Given the description of an element on the screen output the (x, y) to click on. 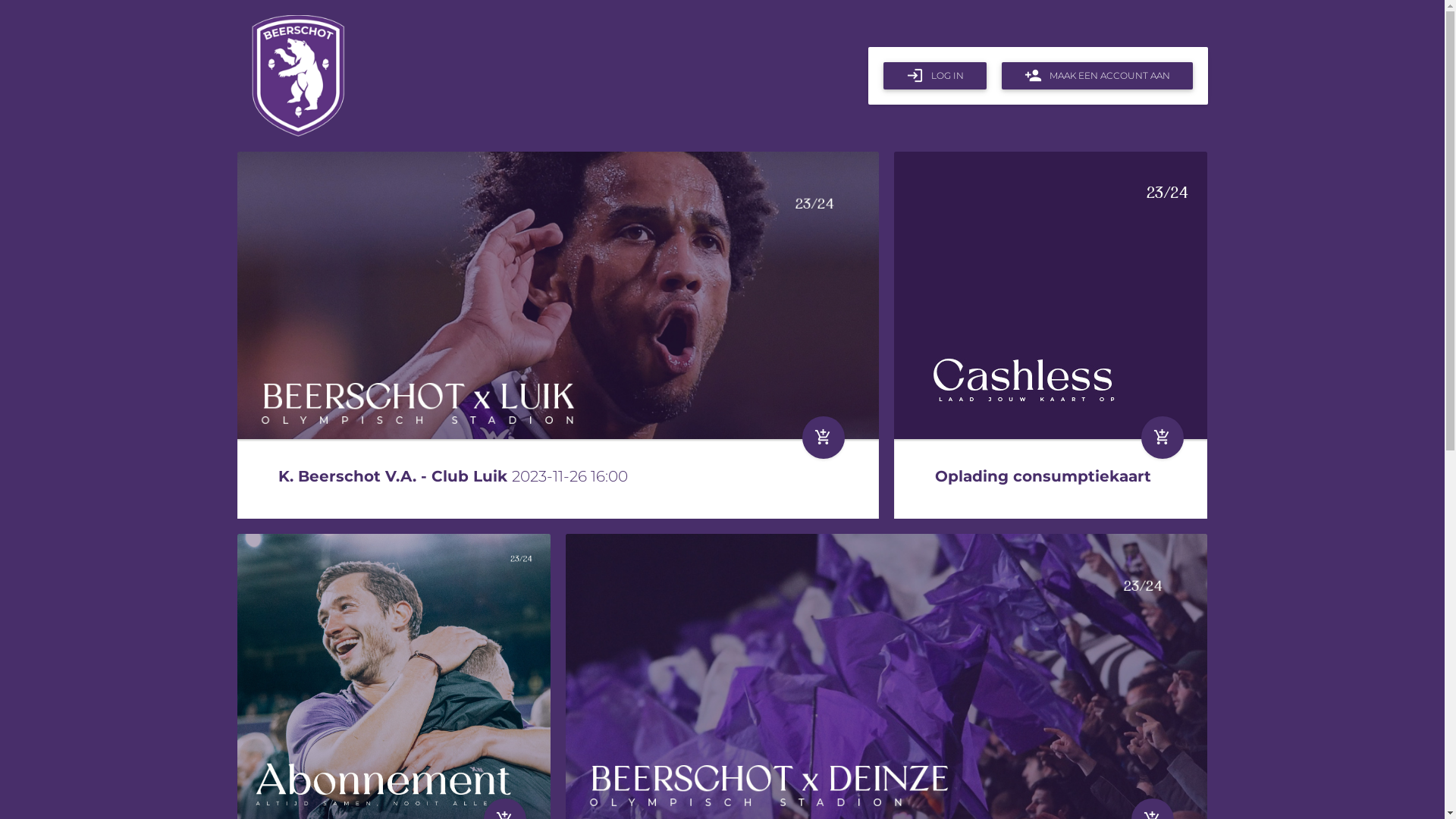
add_shopping_cart Element type: text (1162, 436)
login
LOG IN Element type: text (933, 75)
Koop ticket Element type: hover (557, 331)
Kopen Element type: hover (1050, 303)
person_add
MAAK EEN ACCOUNT AAN Element type: text (1096, 75)
add_shopping_cart Element type: text (823, 436)
